Given the description of an element on the screen output the (x, y) to click on. 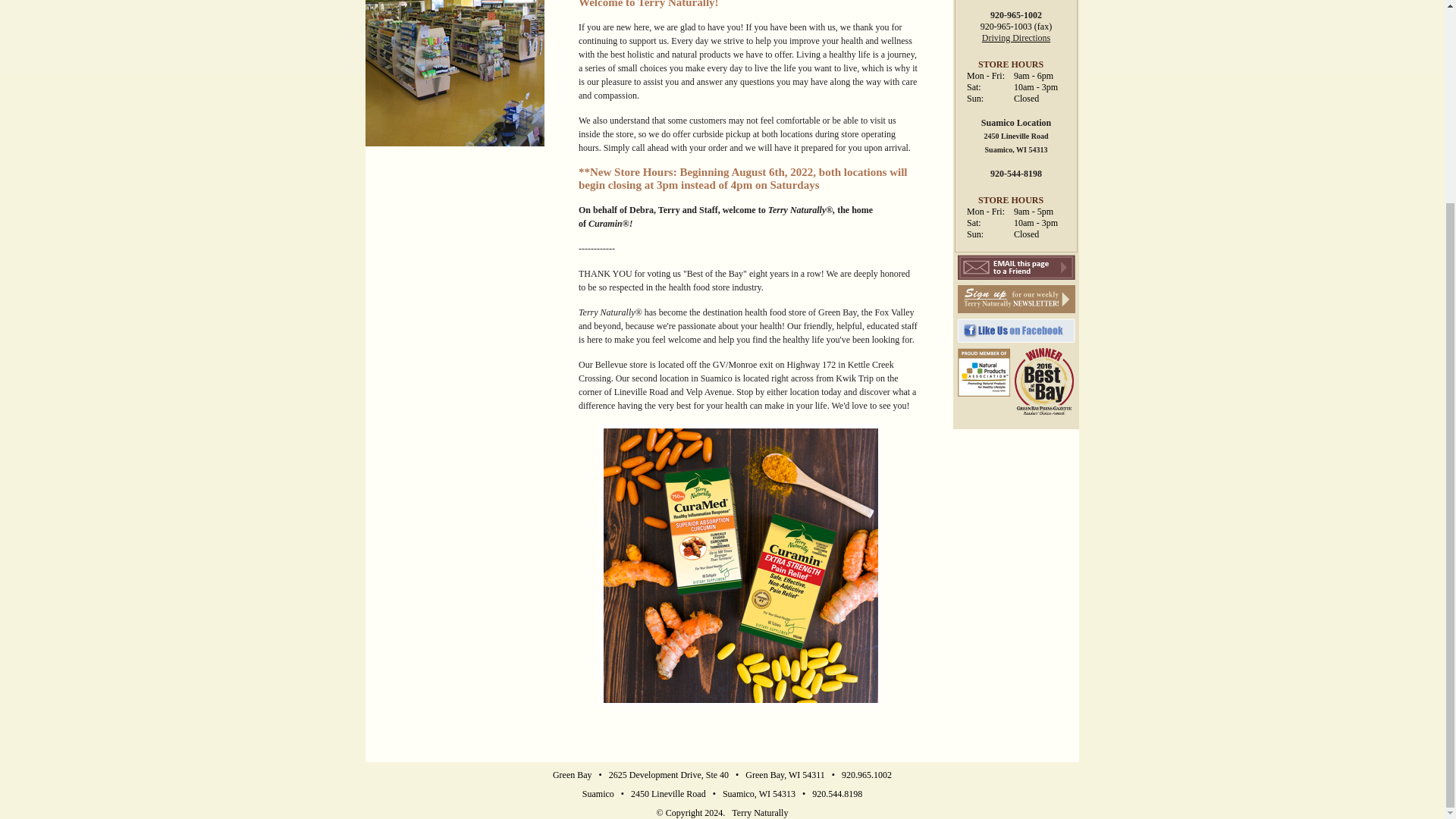
920-965-1002 (1016, 14)
Driving Directions (1015, 37)
920-544-8198 (1016, 173)
